Given the description of an element on the screen output the (x, y) to click on. 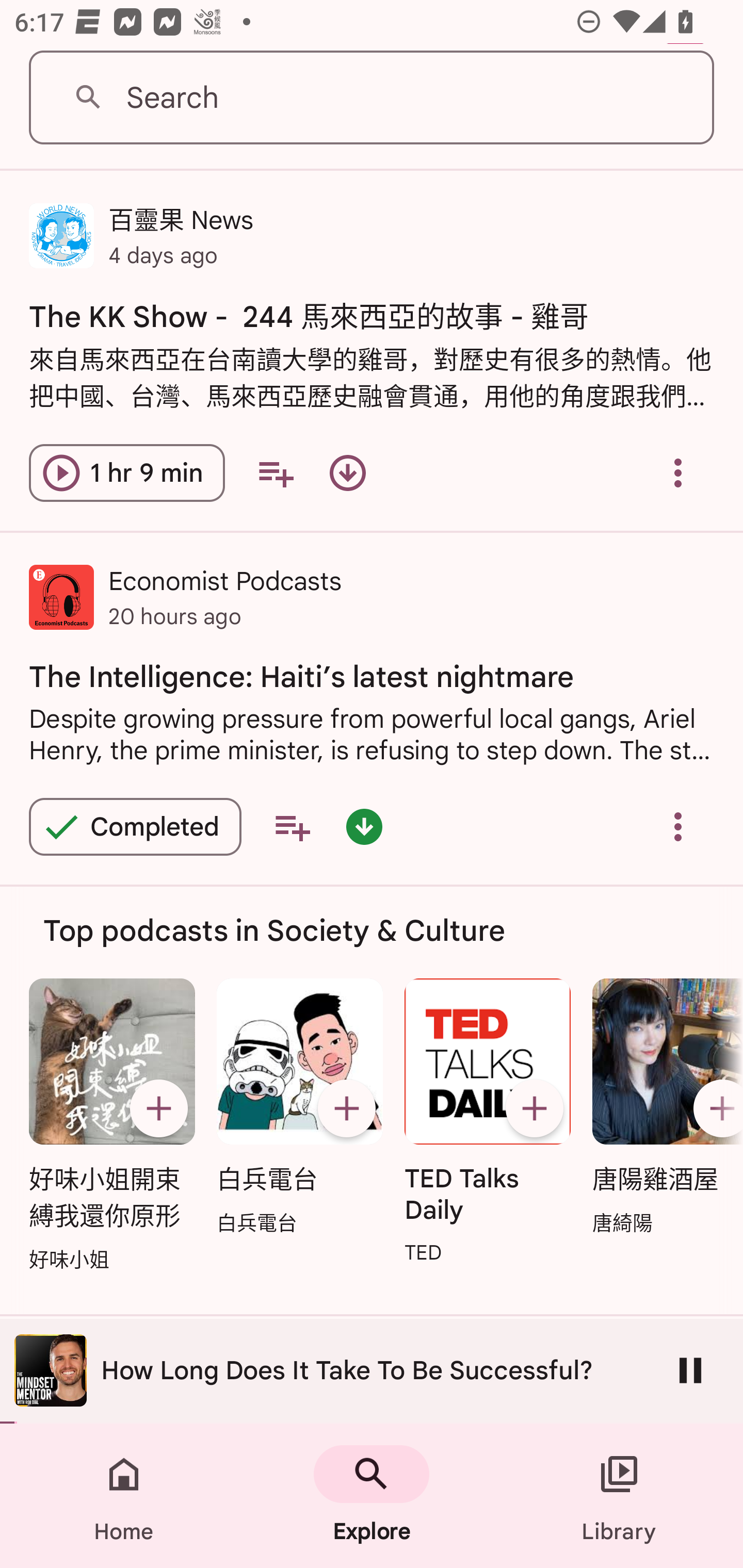
Search (371, 97)
Add to your queue (275, 472)
Download episode (347, 472)
Overflow menu (677, 472)
Add to your queue (291, 827)
Episode downloaded - double tap for options (364, 827)
Overflow menu (677, 827)
好味小姐開束縛我還你原形 Subscribe 好味小姐開束縛我還你原形 好味小姐 (111, 1126)
白兵電台 Subscribe 白兵電台 白兵電台 (299, 1107)
TED Talks Daily Subscribe TED Talks Daily TED (487, 1122)
唐陽雞酒屋 Subscribe 唐陽雞酒屋 唐綺陽 (662, 1107)
Subscribe (158, 1108)
Subscribe (346, 1108)
Subscribe (534, 1108)
Subscribe (714, 1108)
Pause (690, 1370)
Home (123, 1495)
Library (619, 1495)
